Given the description of an element on the screen output the (x, y) to click on. 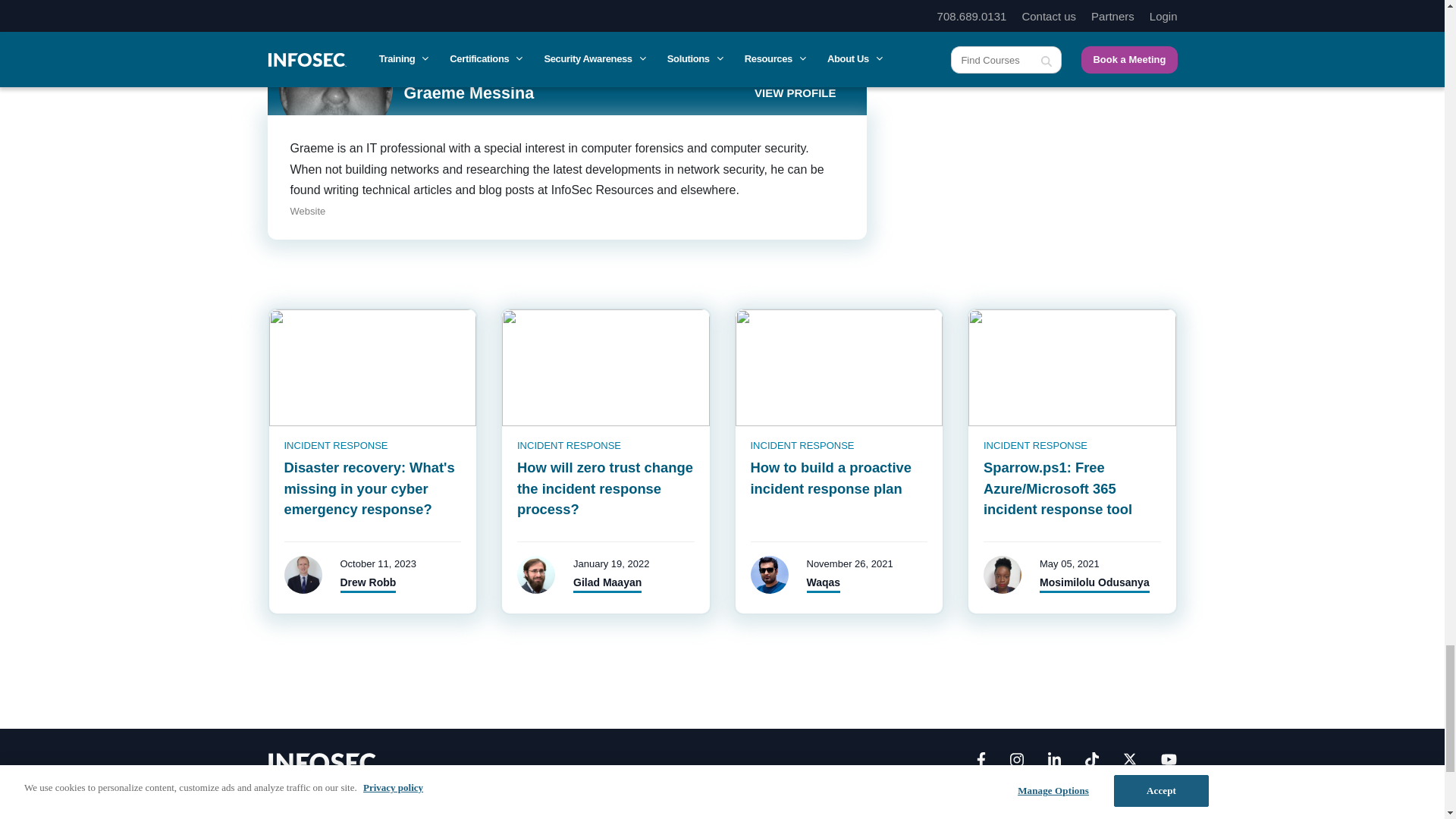
Infosec (322, 761)
Instagram (1016, 762)
LinkedIn (1054, 762)
